Given the description of an element on the screen output the (x, y) to click on. 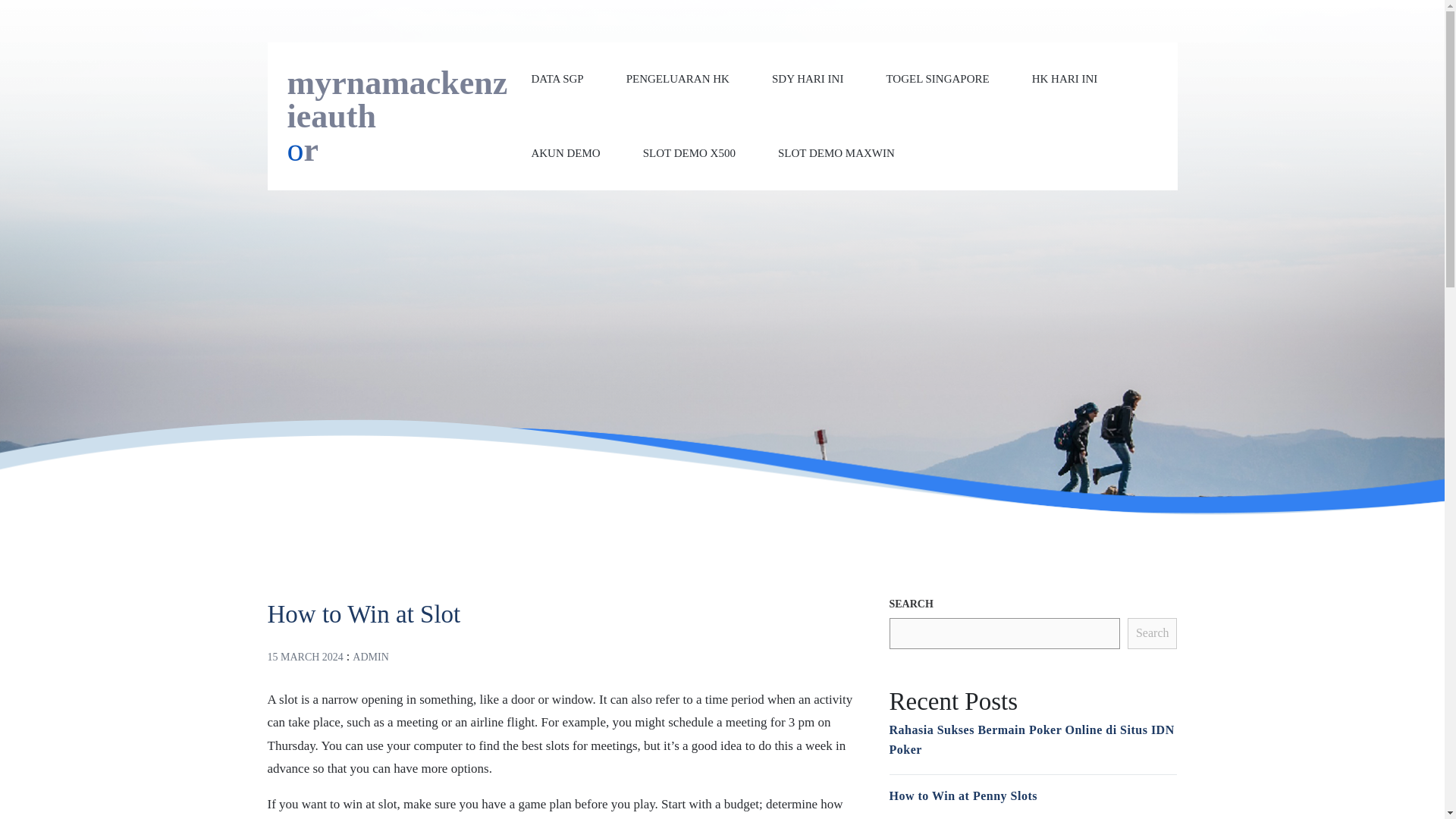
PENGELUARAN HK (677, 78)
SDY HARI INI (807, 78)
SLOT DEMO X500 (689, 152)
SLOT DEMO MAXWIN (836, 152)
ADMIN (370, 655)
AKUN DEMO (565, 152)
How to Win at Penny Slots (962, 795)
TOGEL SINGAPORE (936, 78)
Search (1151, 633)
myrnamackenzieauthor (398, 132)
DATA SGP (557, 78)
HK HARI INI (1064, 78)
Rahasia Sukses Bermain Poker Online di Situs IDN Poker (1030, 739)
15 MARCH 2024 (304, 655)
